Given the description of an element on the screen output the (x, y) to click on. 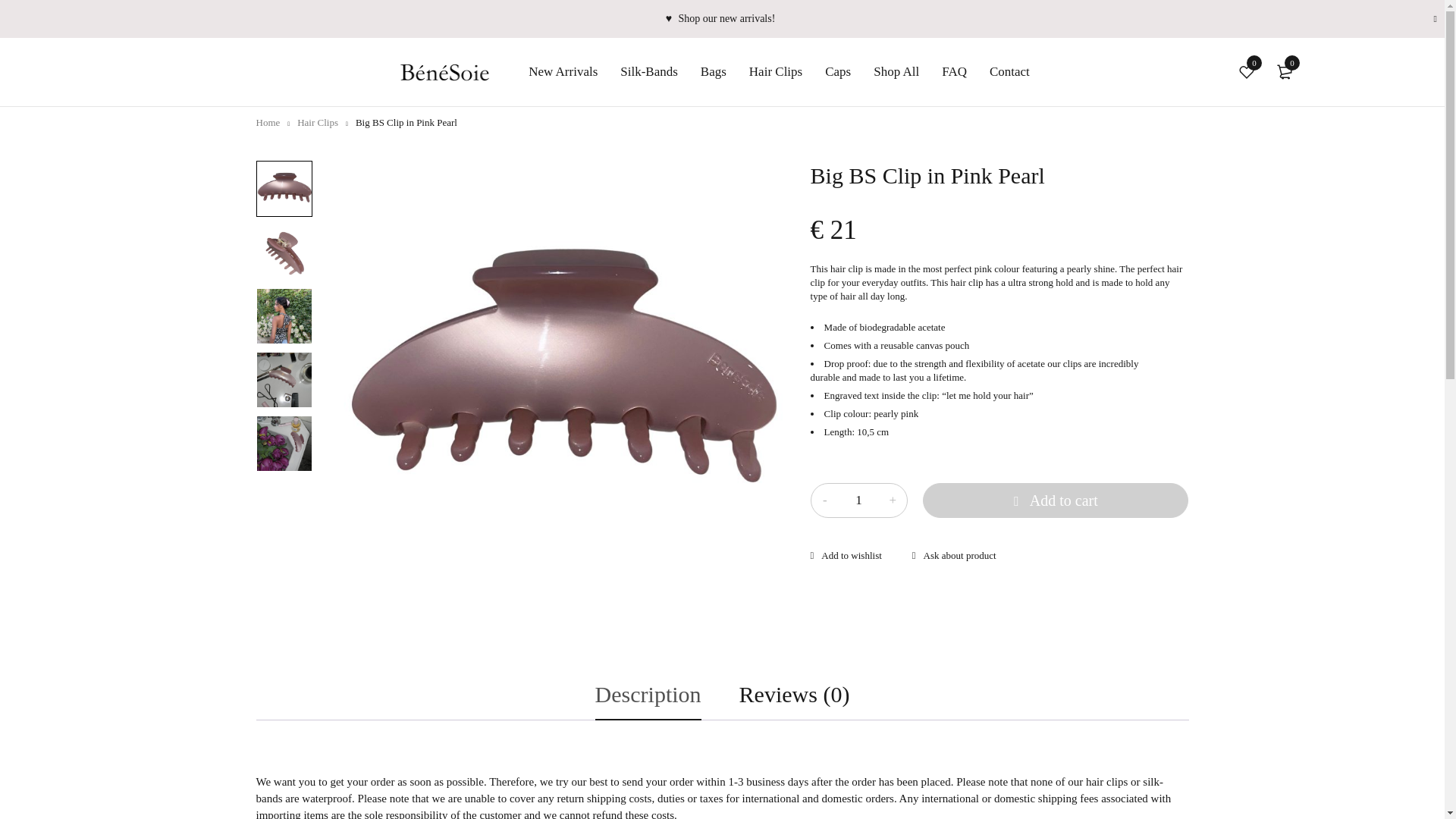
Home (268, 122)
1 (858, 500)
Wishlist (846, 556)
Shop All (895, 71)
Silk-Bands (649, 71)
FAQ (954, 71)
Caps (837, 71)
Ask about product (953, 555)
Shop our new arrivals! (726, 18)
